Given the description of an element on the screen output the (x, y) to click on. 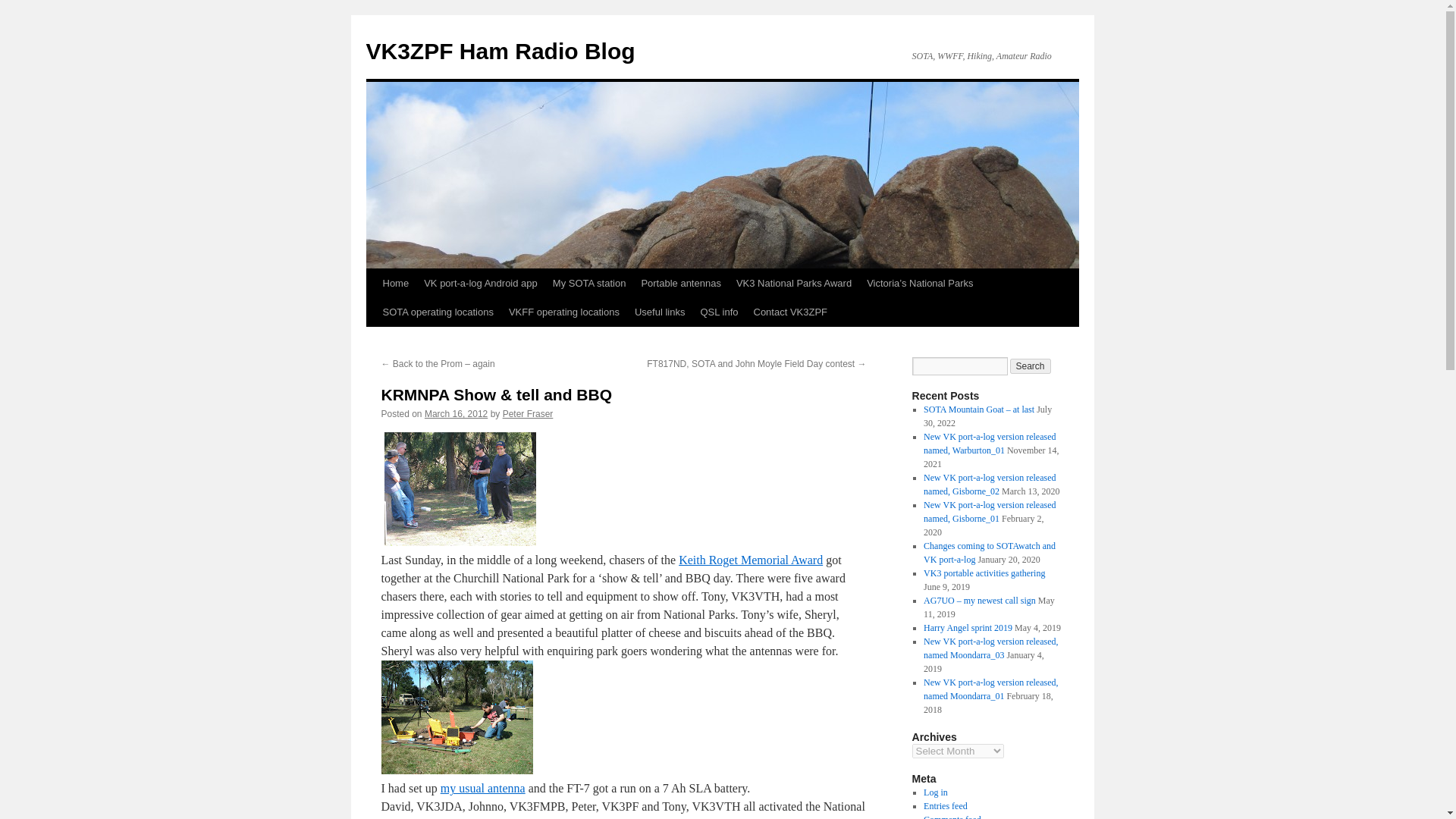
SOTA operating locations (437, 312)
VK3ZPF Ham Radio Blog (499, 50)
QSL info (719, 312)
my usual antenna (483, 788)
VK port-a-log Android app (480, 283)
Contact VK3ZPF (790, 312)
Useful links (660, 312)
Harry Angel sprint 2019 (967, 627)
Search (1030, 365)
VK3ZPF Ham Radio Blog (499, 50)
